Given the description of an element on the screen output the (x, y) to click on. 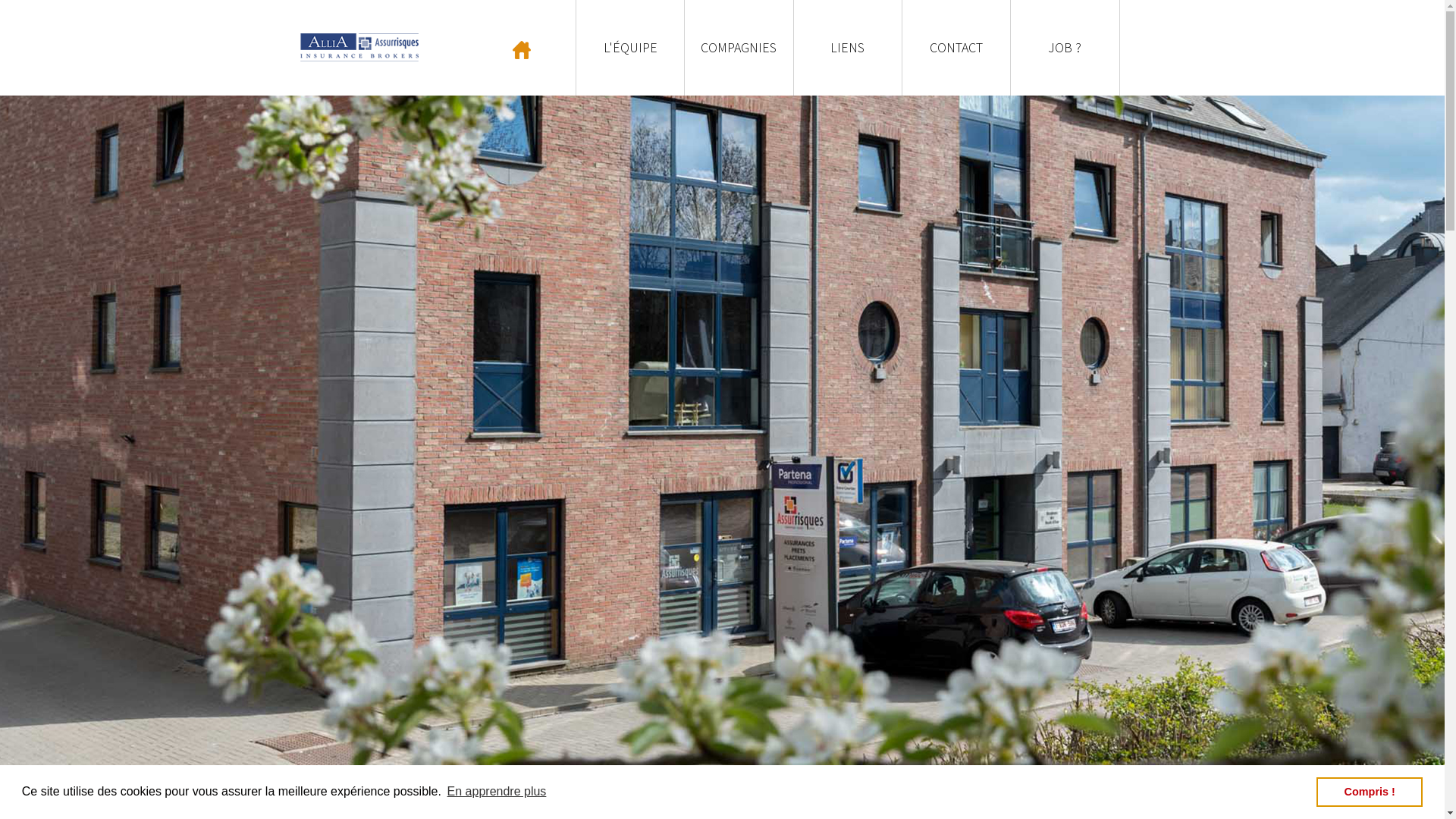
Compris ! Element type: text (1369, 791)
LIENS Element type: text (847, 47)
JOB ? Element type: text (1064, 47)
En apprendre plus Element type: text (496, 791)
COMPAGNIES Element type: text (738, 47)
CONTACT Element type: text (956, 47)
